Given the description of an element on the screen output the (x, y) to click on. 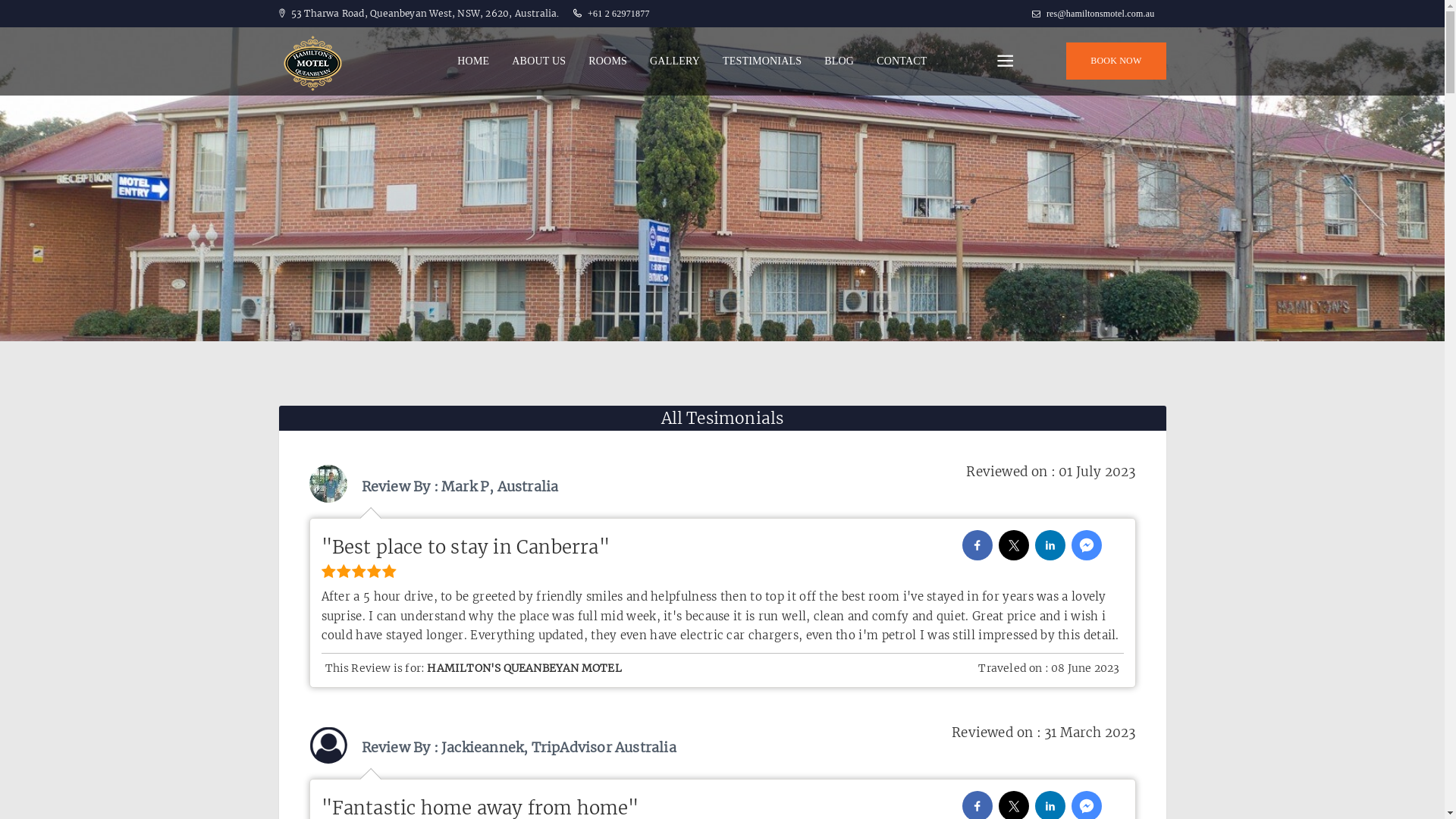
CONTACT Element type: text (901, 60)
res@hamiltonsmotel.com.au Element type: text (1099, 13)
GALLERY Element type: text (674, 60)
ABOUT US Element type: text (538, 60)
HOME Element type: text (472, 60)
ROOMS Element type: text (607, 60)
TESTIMONIALS Element type: text (761, 60)
BOOK NOW Element type: text (1115, 60)
BLOG Element type: text (838, 60)
+61 2 62971877 Element type: text (618, 13)
